Given the description of an element on the screen output the (x, y) to click on. 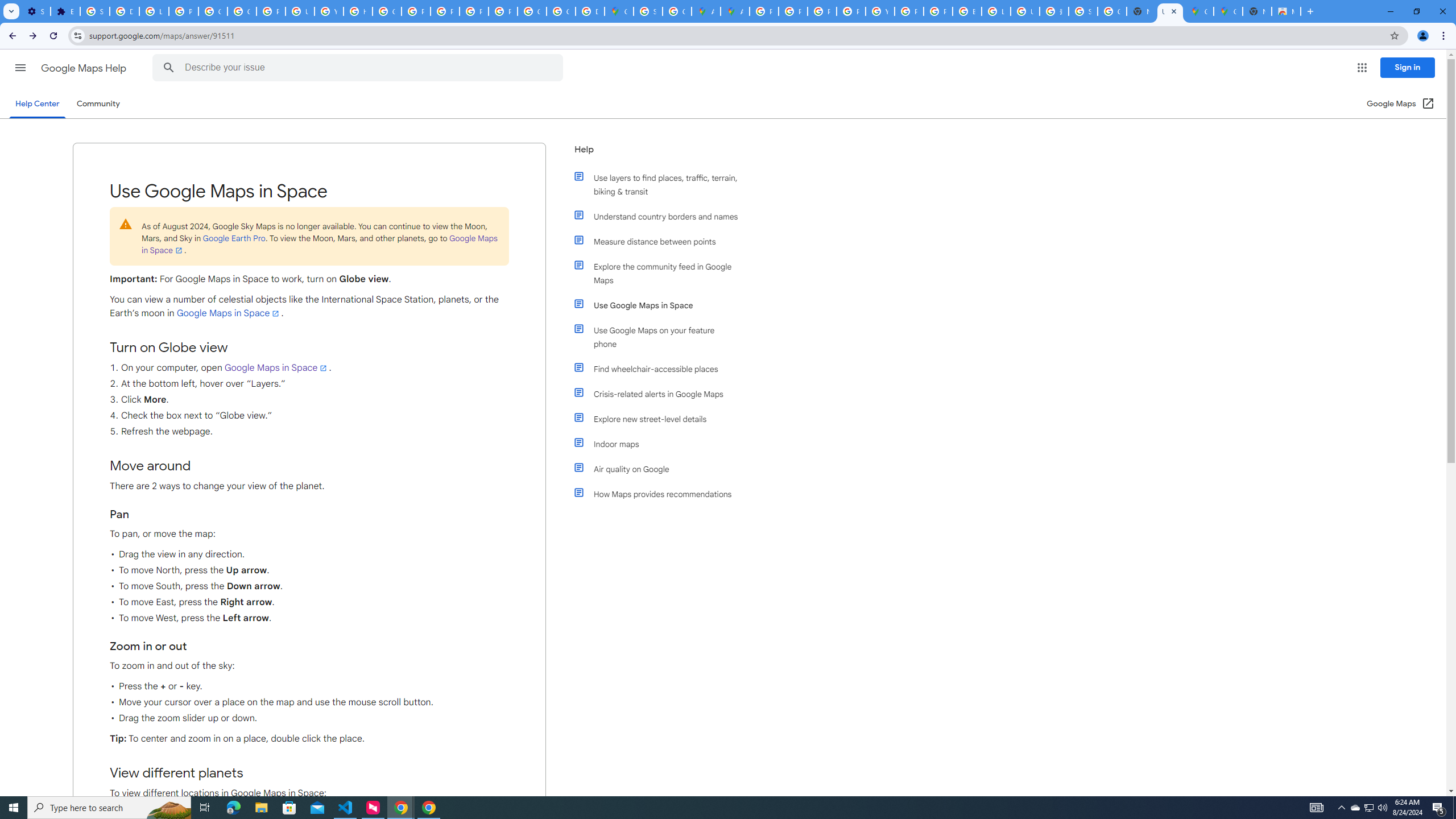
Community (97, 103)
Explore the community feed in Google Maps (661, 273)
Google Maps (1227, 11)
Use Google Maps in Space (661, 305)
Sign in - Google Accounts (648, 11)
